Given the description of an element on the screen output the (x, y) to click on. 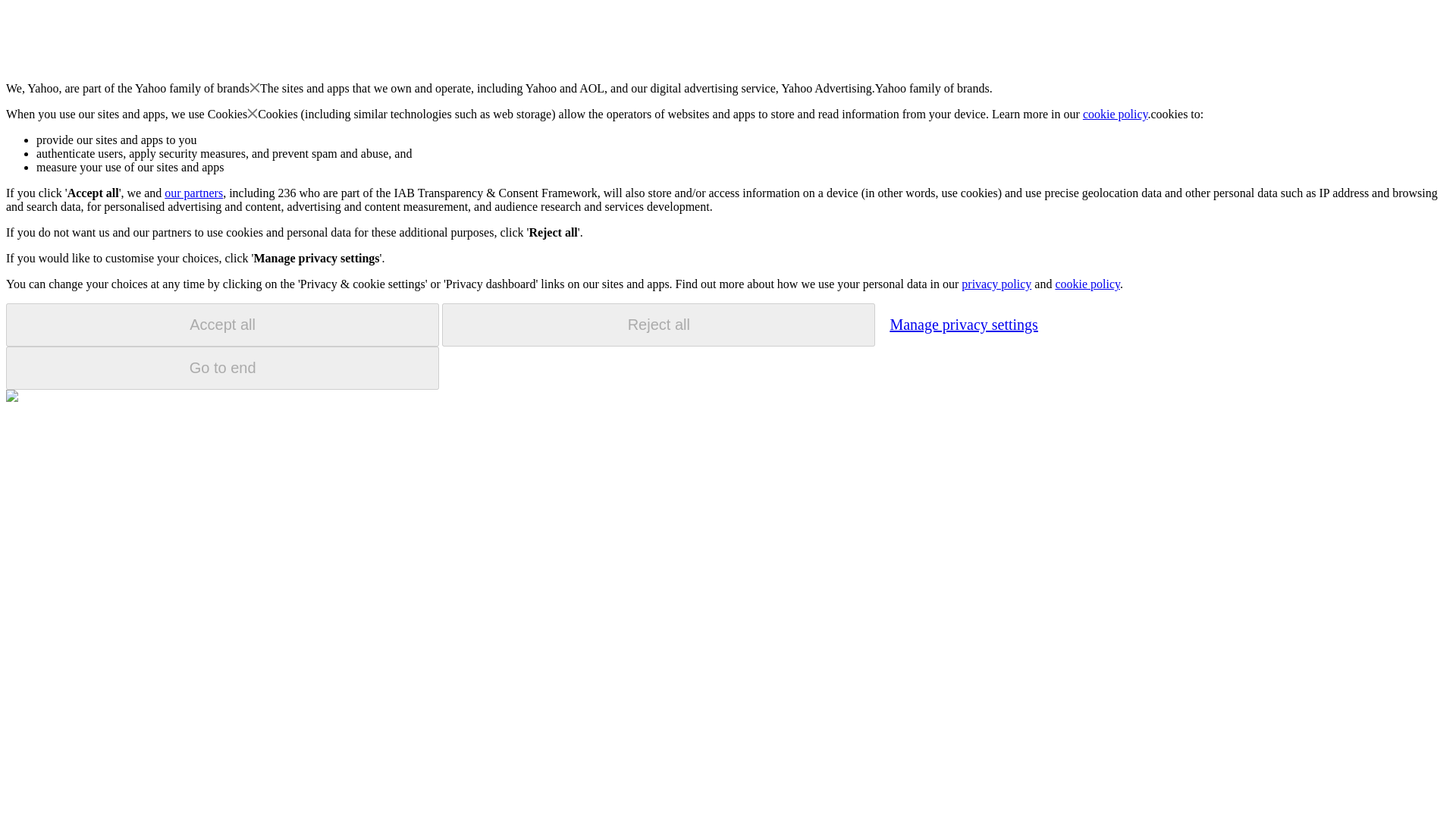
Accept all (222, 324)
Reject all (658, 324)
cookie policy (1086, 283)
our partners (193, 192)
privacy policy (995, 283)
Go to end (222, 367)
cookie policy (1115, 113)
Manage privacy settings (963, 323)
